Given the description of an element on the screen output the (x, y) to click on. 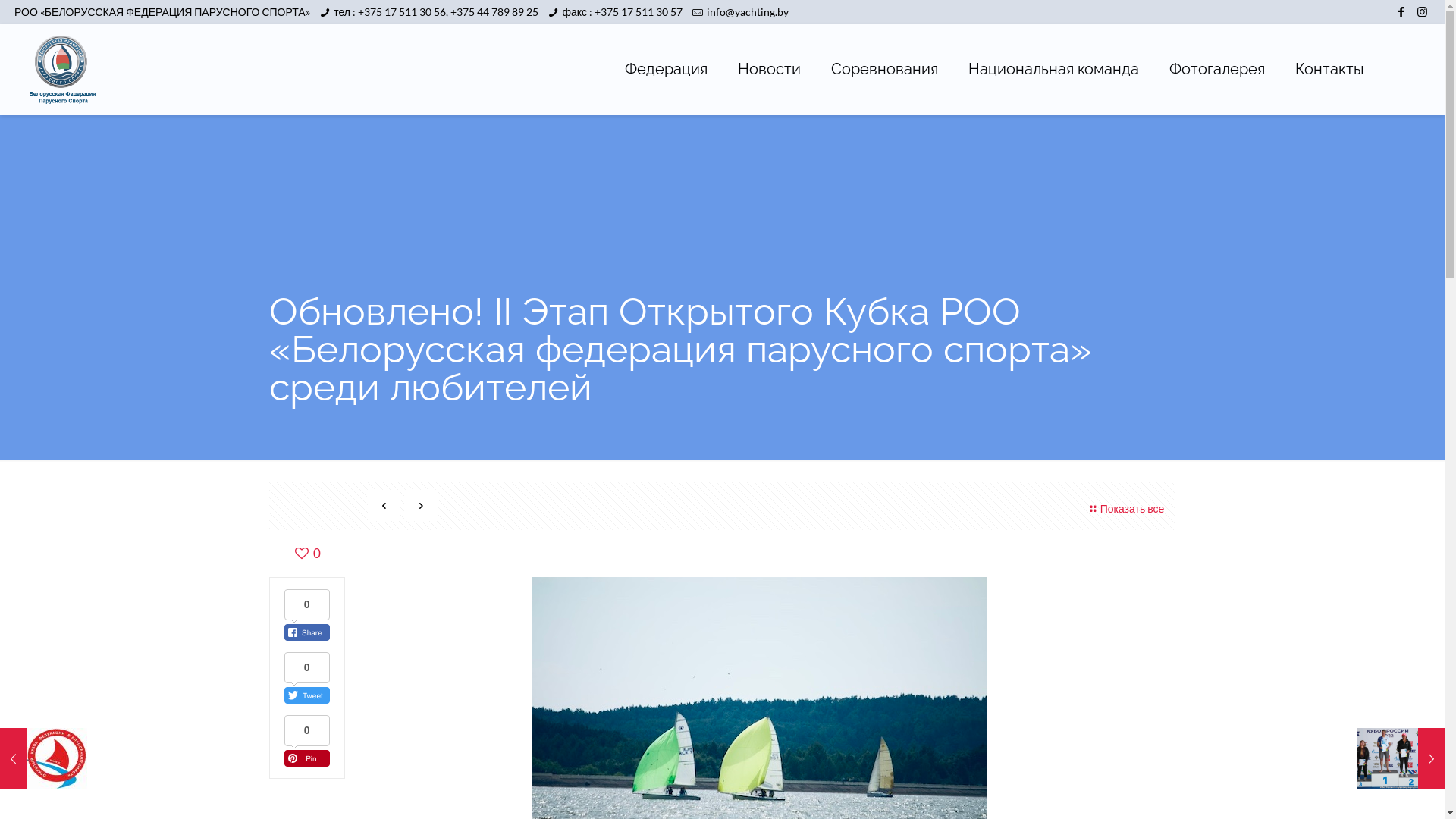
yachting.by Element type: hover (62, 68)
Facebook Element type: hover (1401, 11)
0 Element type: text (305, 553)
info@yachting.by Element type: text (747, 11)
Instagram Element type: hover (1422, 11)
